Given the description of an element on the screen output the (x, y) to click on. 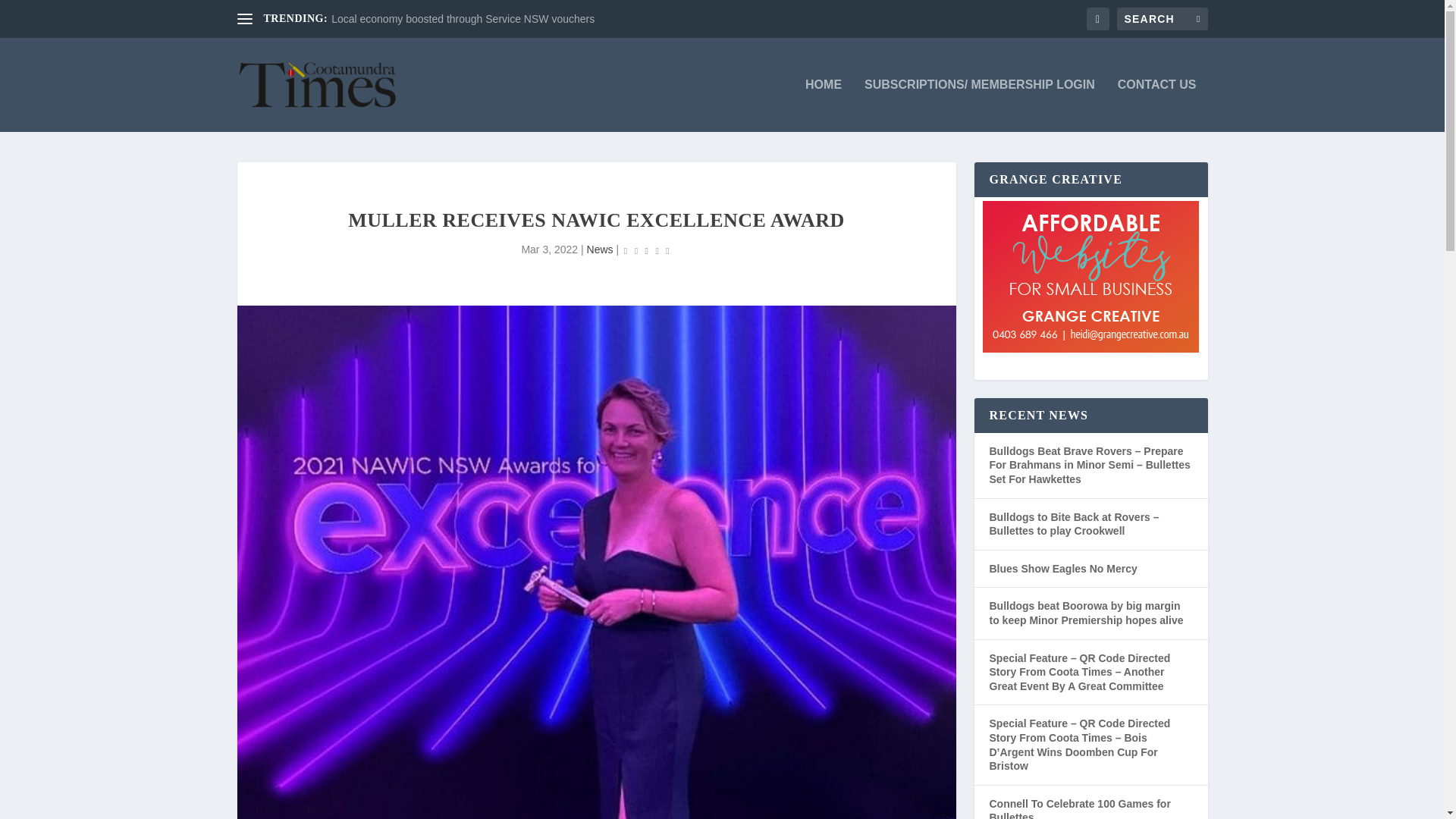
Rating: 0.00 (646, 250)
CONTACT US (1157, 104)
Local economy boosted through Service NSW vouchers (462, 19)
Search for: (1161, 18)
Blues Show Eagles No Mercy (1062, 568)
News (599, 249)
